Given the description of an element on the screen output the (x, y) to click on. 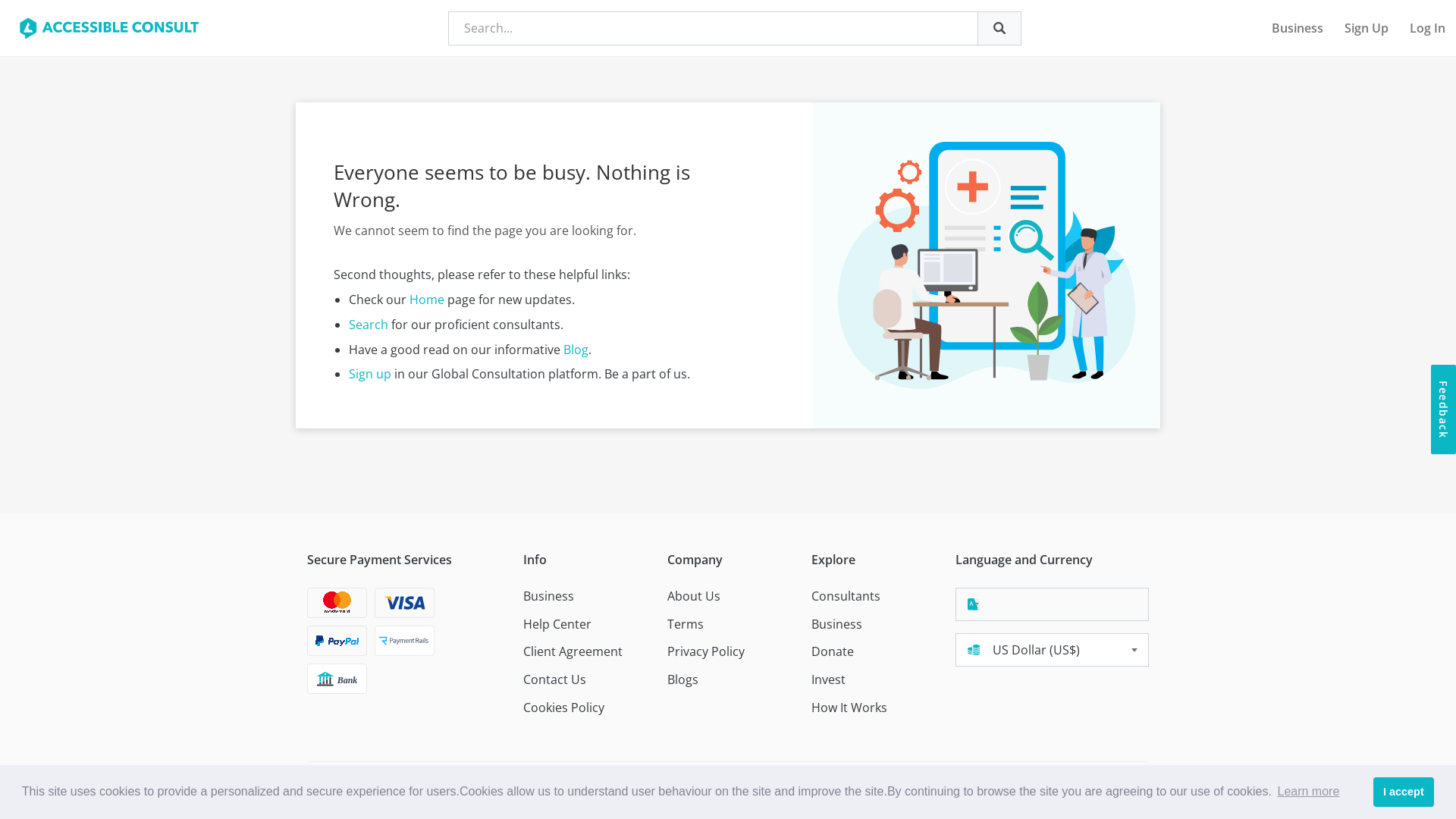
Client Agreement Element type: text (572, 651)
Privacy Policy Element type: text (705, 651)
Cookies Policy Element type: text (563, 707)
Blog Element type: text (575, 349)
Sign up Element type: text (369, 373)
Business Element type: text (548, 595)
Donate Element type: text (832, 651)
Search Element type: text (368, 324)
Business Element type: text (1297, 28)
Terms Element type: text (685, 624)
Learn more Element type: text (1307, 791)
How It Works Element type: text (849, 707)
Contact Us Element type: text (554, 679)
About Us Element type: text (693, 595)
I accept Element type: text (1403, 791)
Consultants Element type: text (845, 595)
Help Center Element type: text (557, 624)
Business Element type: text (836, 624)
Blogs Element type: text (682, 679)
Invest Element type: text (828, 679)
Sign Up Element type: text (1366, 28)
Home Element type: text (426, 299)
